Given the description of an element on the screen output the (x, y) to click on. 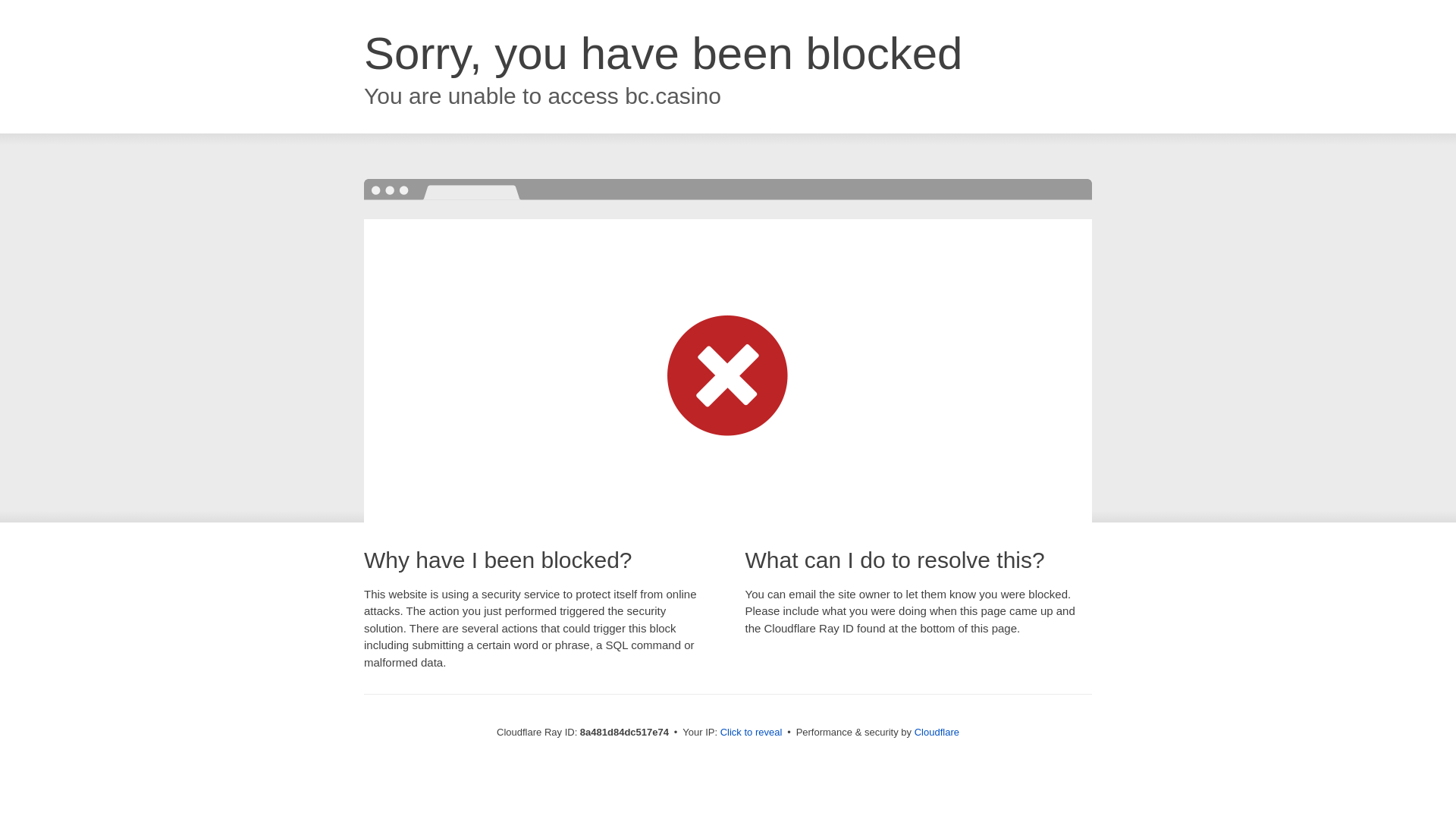
Cloudflare (936, 731)
Click to reveal (751, 732)
